Given the description of an element on the screen output the (x, y) to click on. 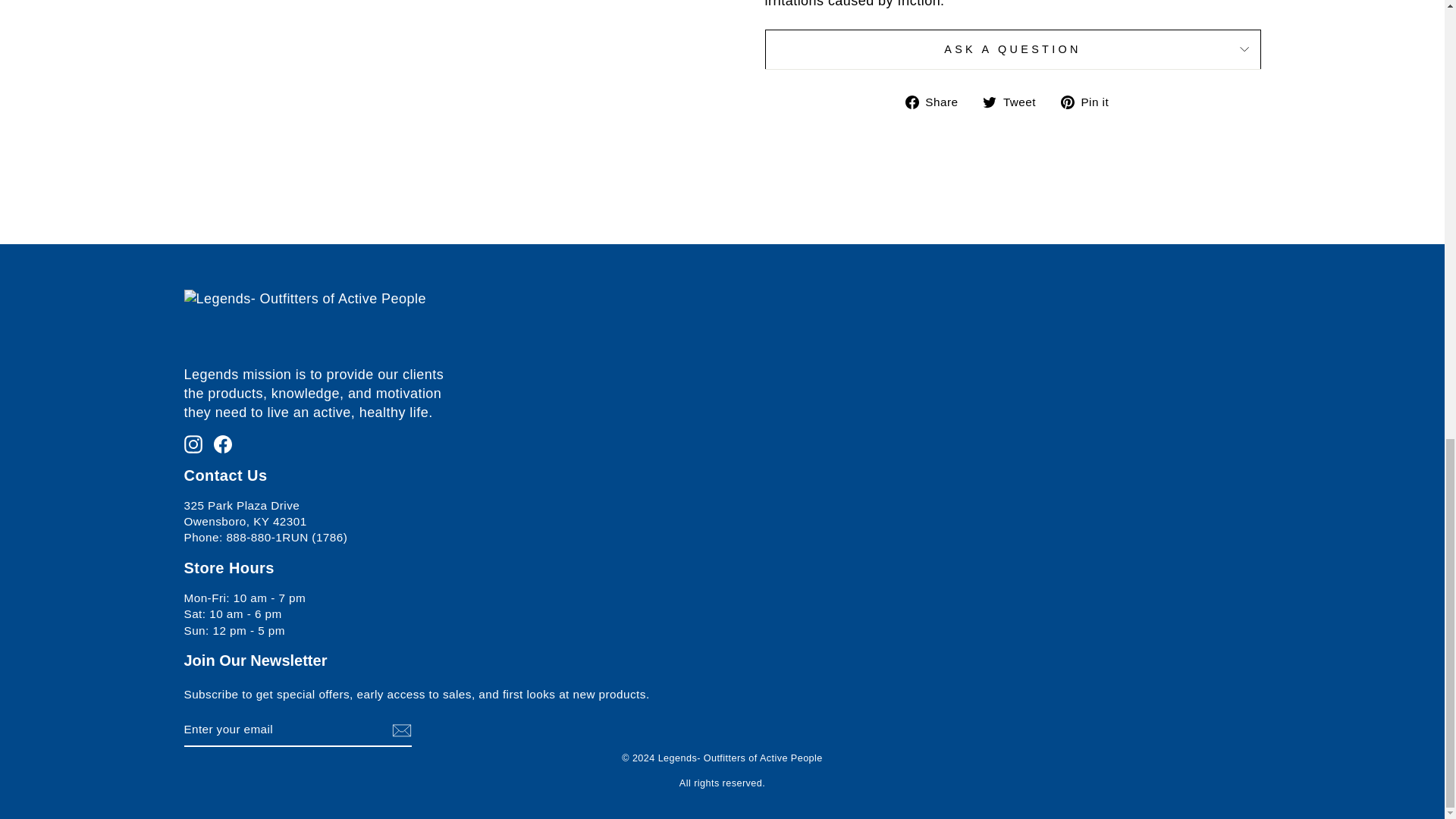
Pin on Pinterest (1090, 101)
Legends- Outfitters of Active People on Facebook (222, 443)
Share on Facebook (937, 101)
Legends- Outfitters of Active People on Instagram (192, 443)
Tweet on Twitter (1014, 101)
